Given the description of an element on the screen output the (x, y) to click on. 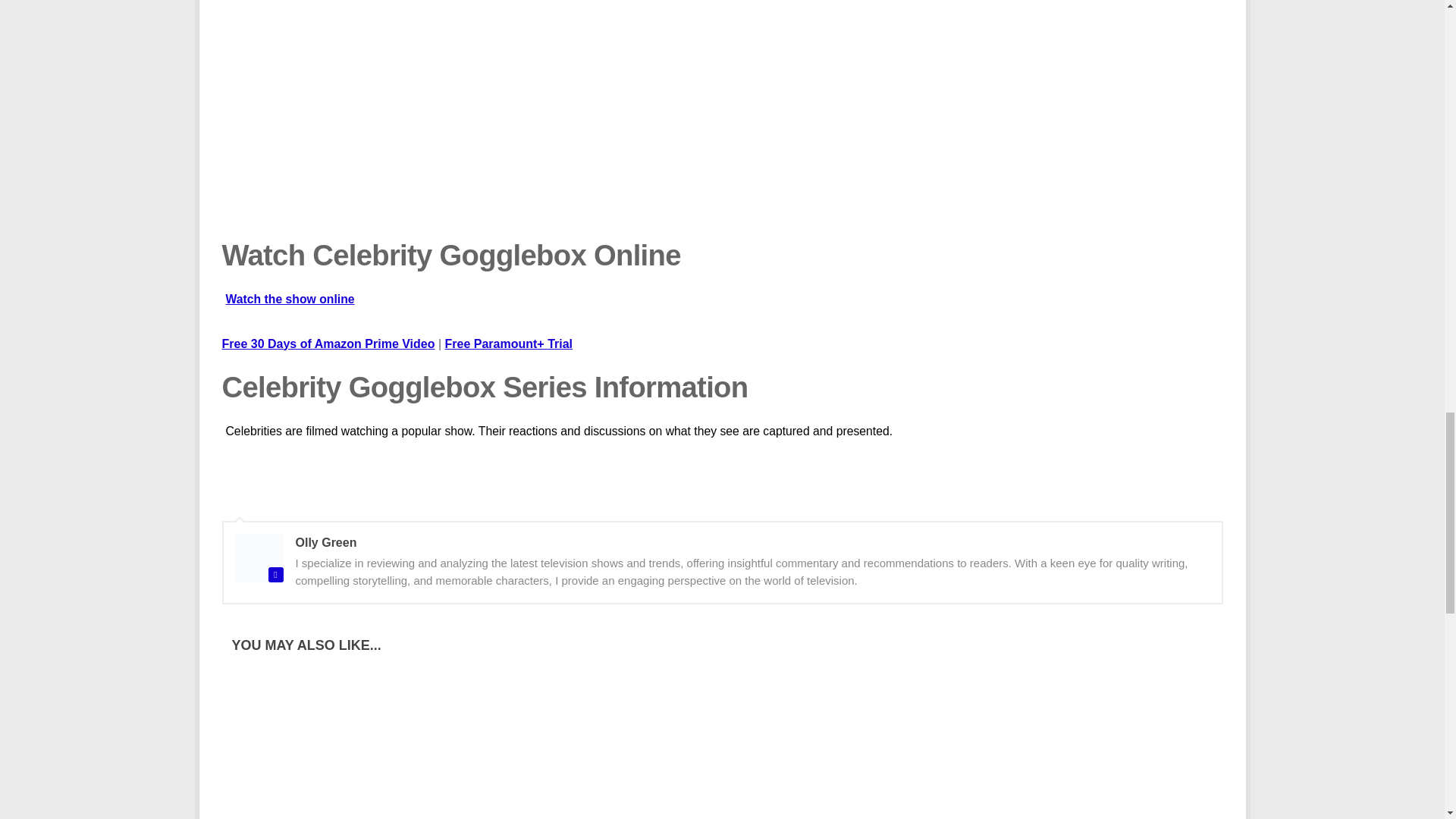
Watch the show online (722, 308)
YouTube video player (437, 97)
